Given the description of an element on the screen output the (x, y) to click on. 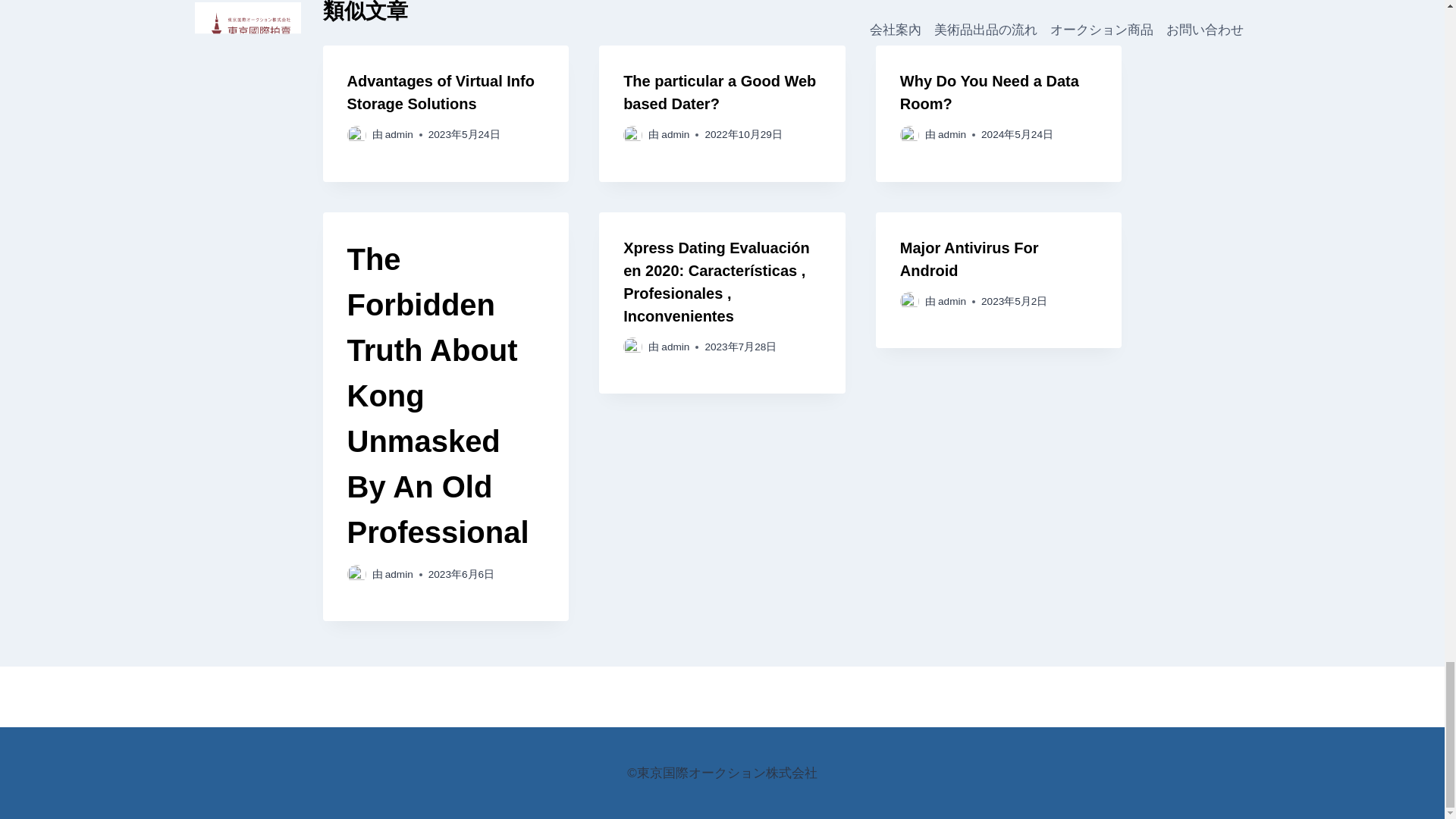
The particular a Good Web based Dater? (719, 92)
admin (674, 346)
Why Do You Need a Data Room? (988, 92)
admin (399, 134)
admin (674, 134)
Advantages of Virtual Info Storage Solutions (440, 92)
admin (399, 573)
admin (951, 134)
